Given the description of an element on the screen output the (x, y) to click on. 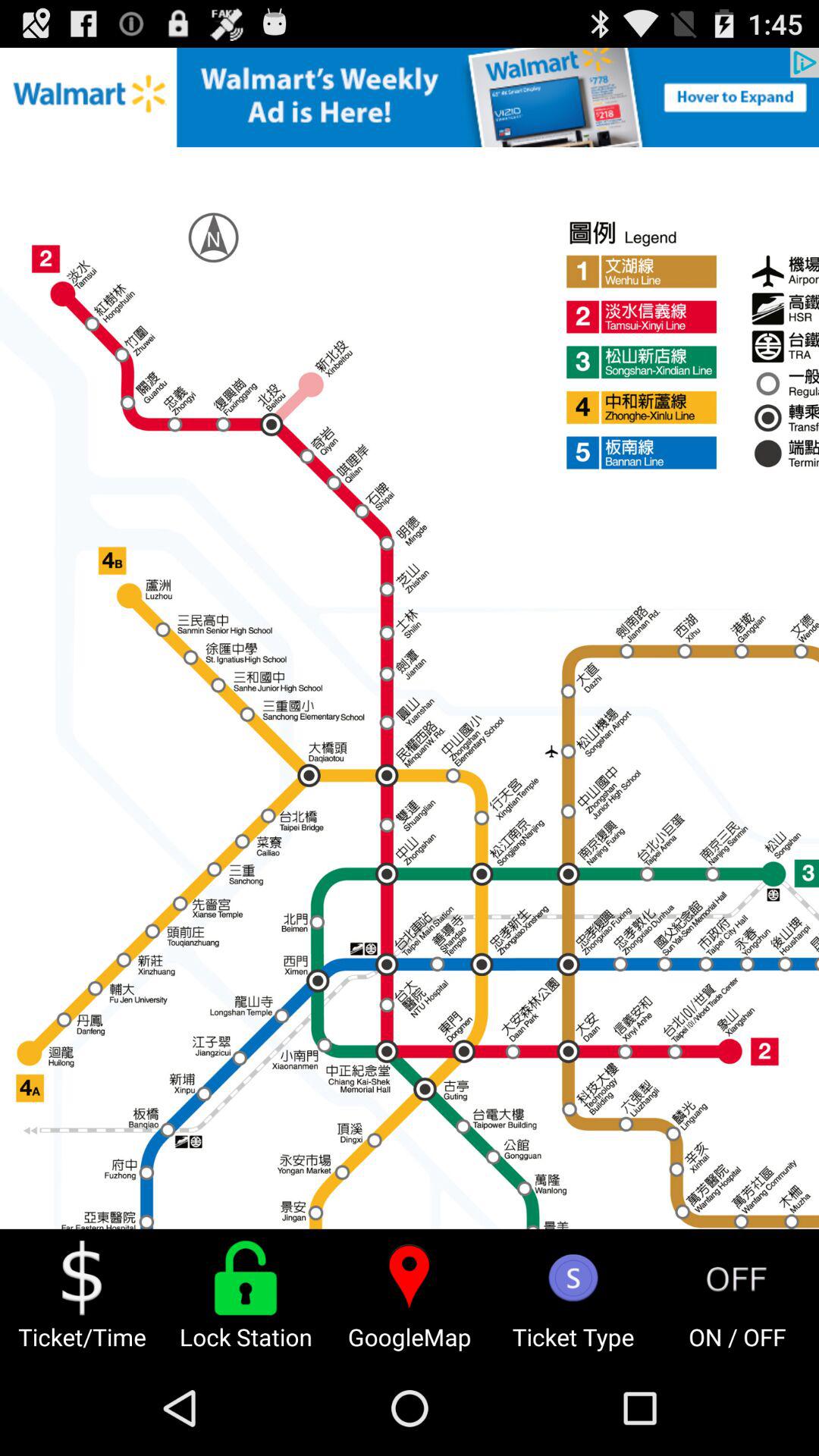
turn on/off (737, 1277)
